Given the description of an element on the screen output the (x, y) to click on. 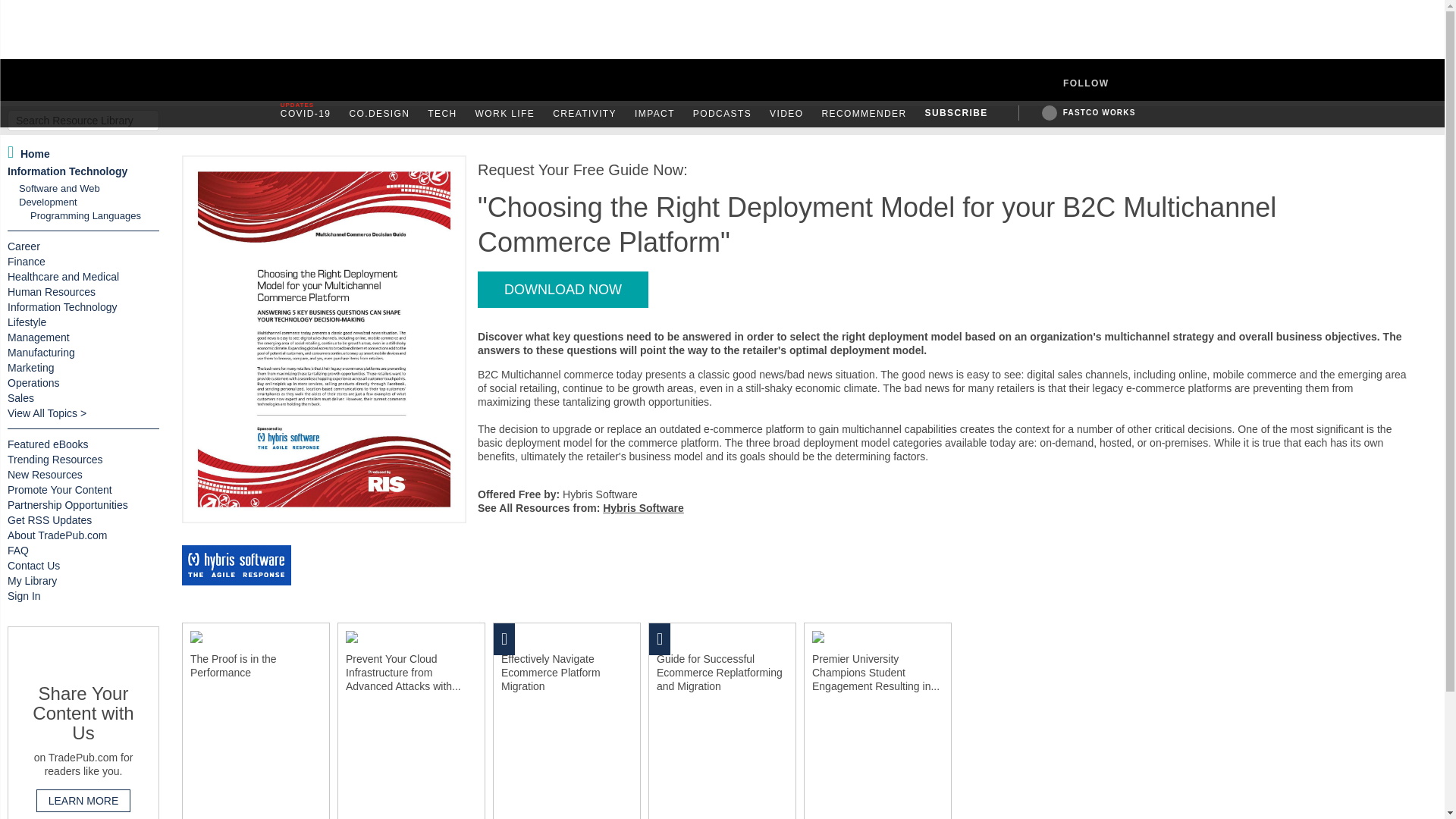
Video (786, 113)
Impact (654, 113)
Tech (442, 113)
Work Life (505, 113)
COVID-19 (306, 113)
Creativity (584, 113)
Co.Design (379, 113)
Recommender (863, 113)
Podcasts (722, 113)
